Given the description of an element on the screen output the (x, y) to click on. 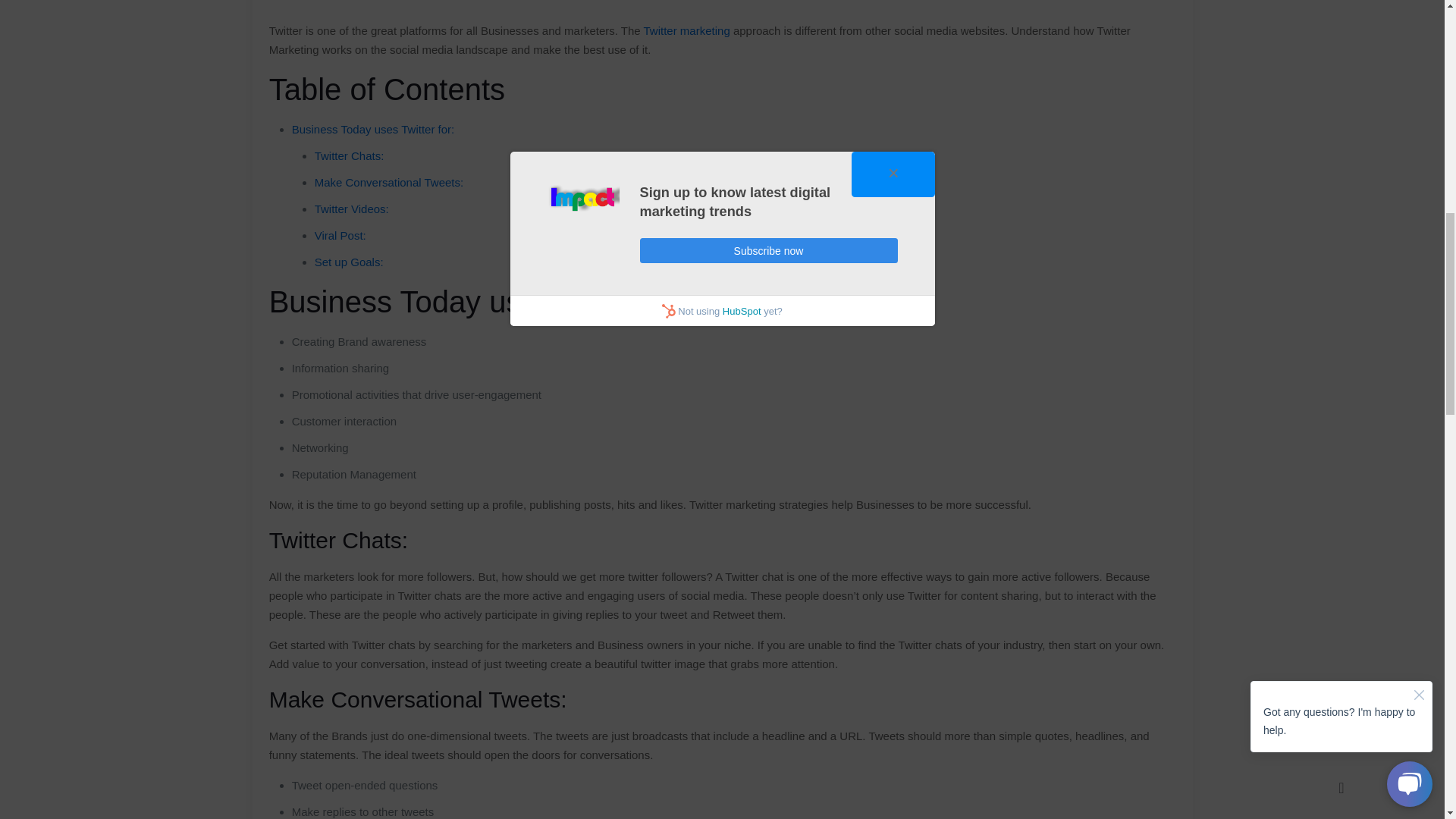
Viral Post: (340, 235)
Twitter Videos: (351, 208)
Business Today uses Twitter for: (373, 128)
Make Conversational Tweets: (389, 182)
Twitter marketing (686, 30)
Twitter Chats: (349, 155)
Set up Goals: (349, 261)
